Given the description of an element on the screen output the (x, y) to click on. 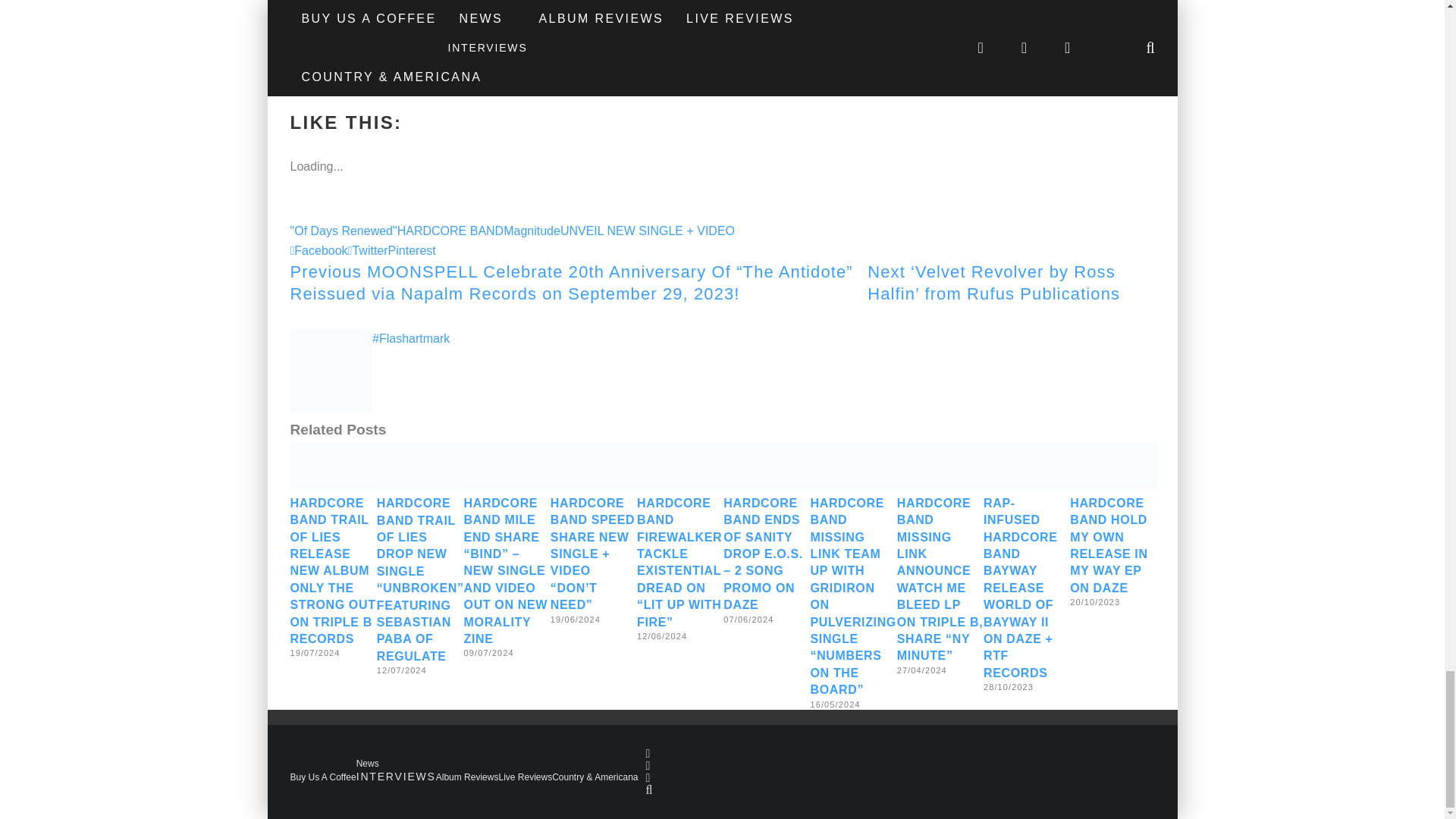
"Of Days Renewed" (342, 230)
Tweet (305, 57)
Share on Tumblr (333, 78)
Share on Tumblr (333, 78)
HARDCORE BAND (450, 230)
